Given the description of an element on the screen output the (x, y) to click on. 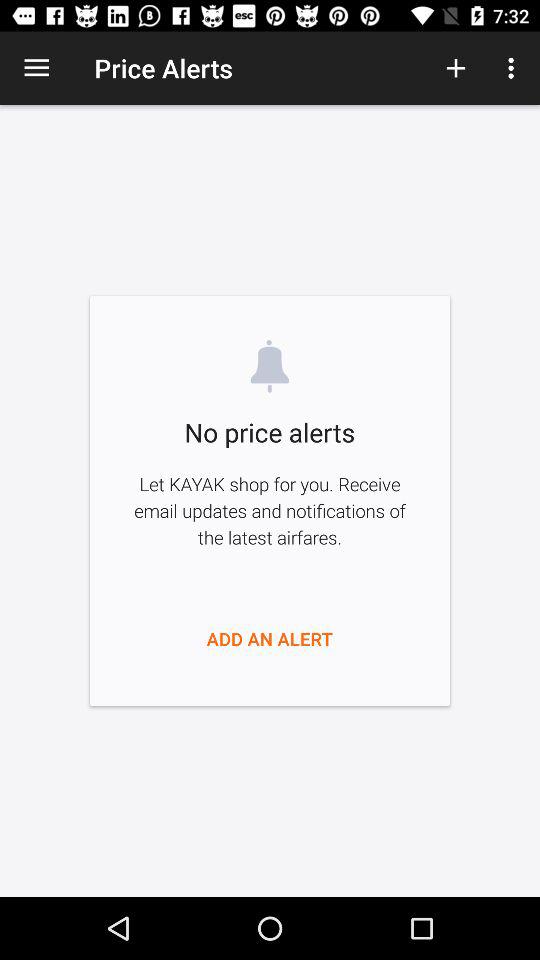
select the item next to the price alerts item (36, 68)
